Given the description of an element on the screen output the (x, y) to click on. 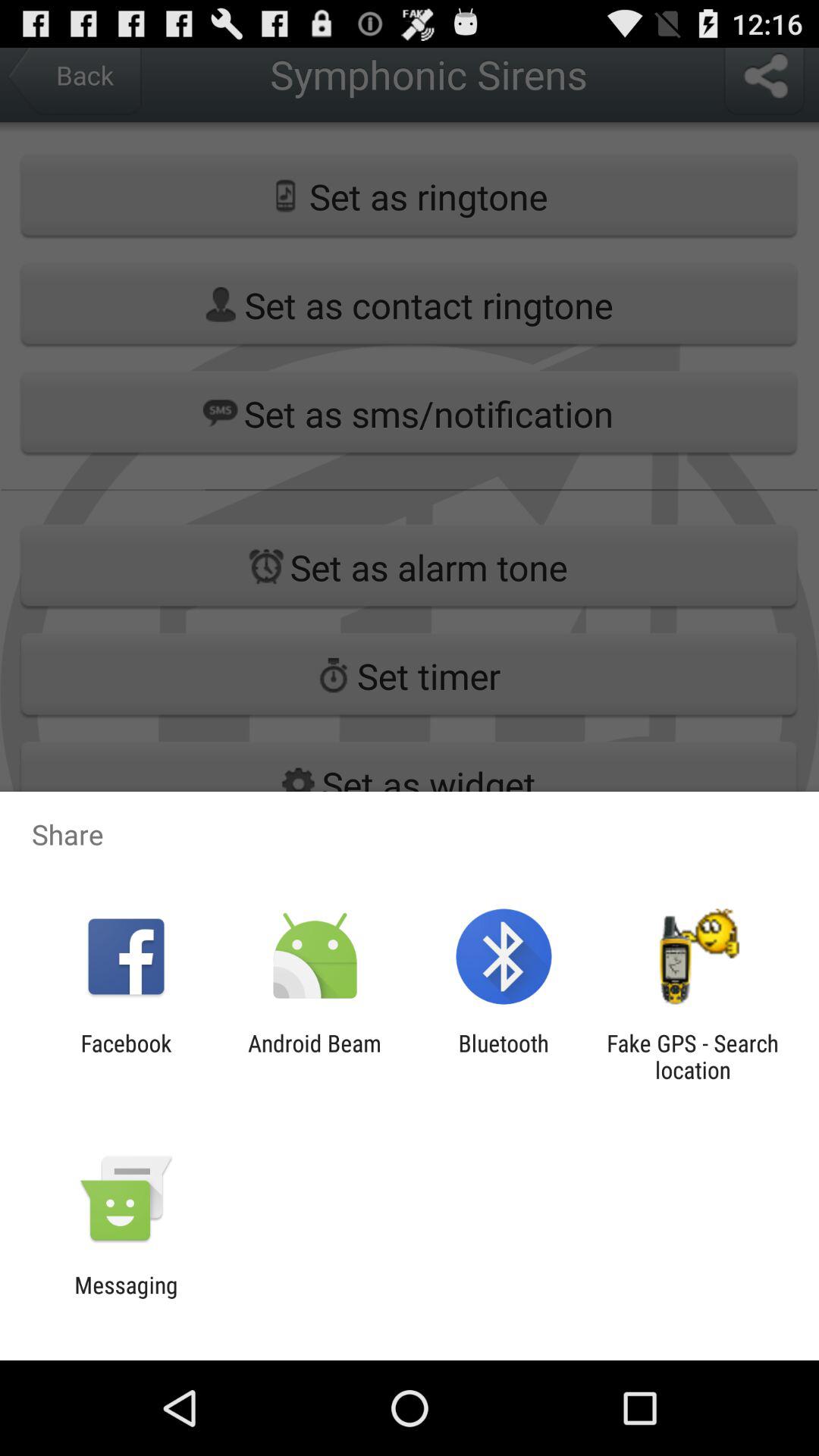
press the app next to the android beam icon (503, 1056)
